Given the description of an element on the screen output the (x, y) to click on. 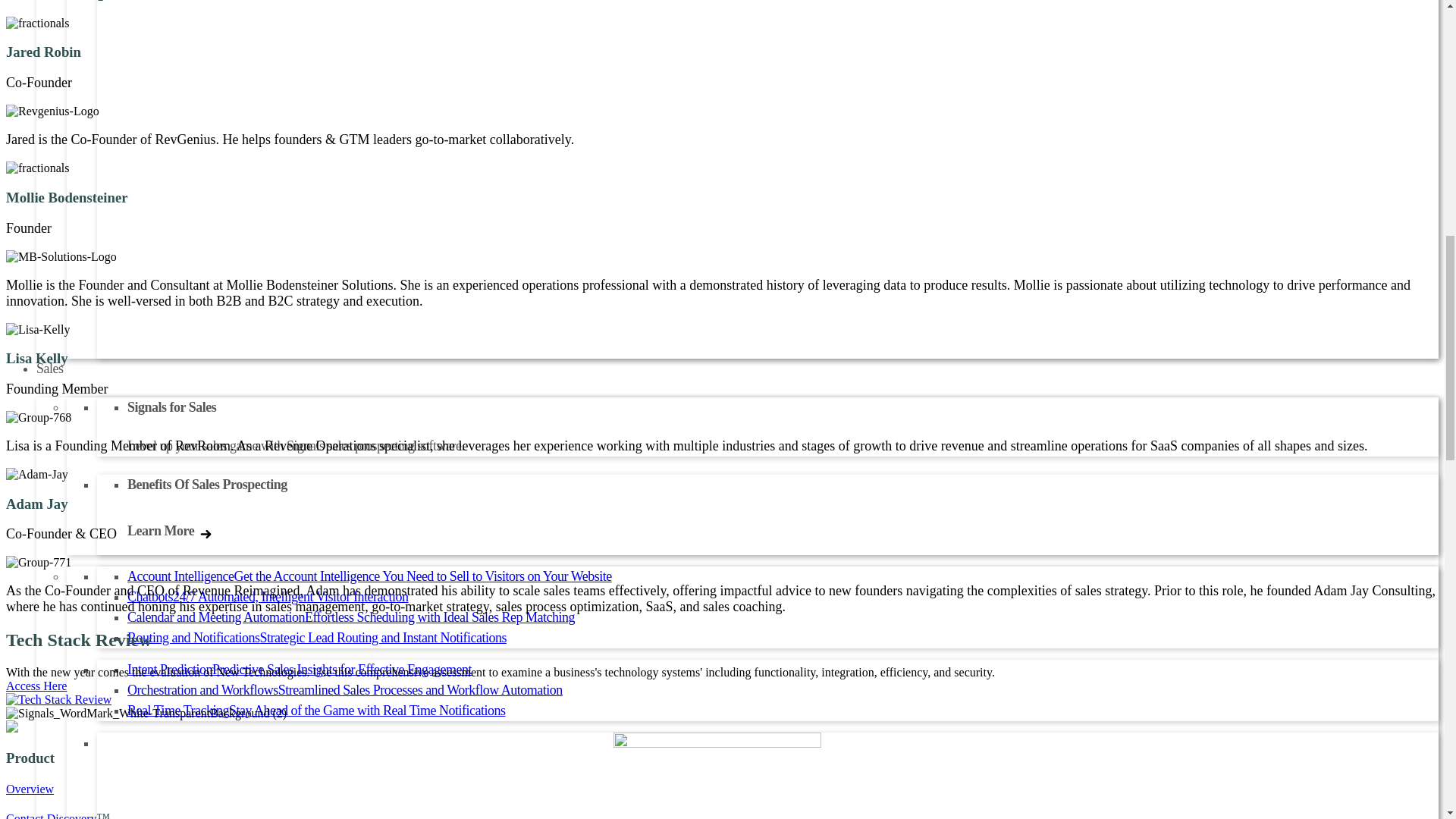
Mollie-Bodensteiner (37, 168)
Group-771 (38, 562)
Revgenius-Logo (52, 110)
MB-Solutions-Logo (60, 256)
Teck-Stack-Mockup (58, 699)
Sales (50, 368)
Lisa-Kelly (37, 329)
Adam-Jay (36, 474)
Group-768 (38, 418)
Jared-Robin (37, 23)
